Given the description of an element on the screen output the (x, y) to click on. 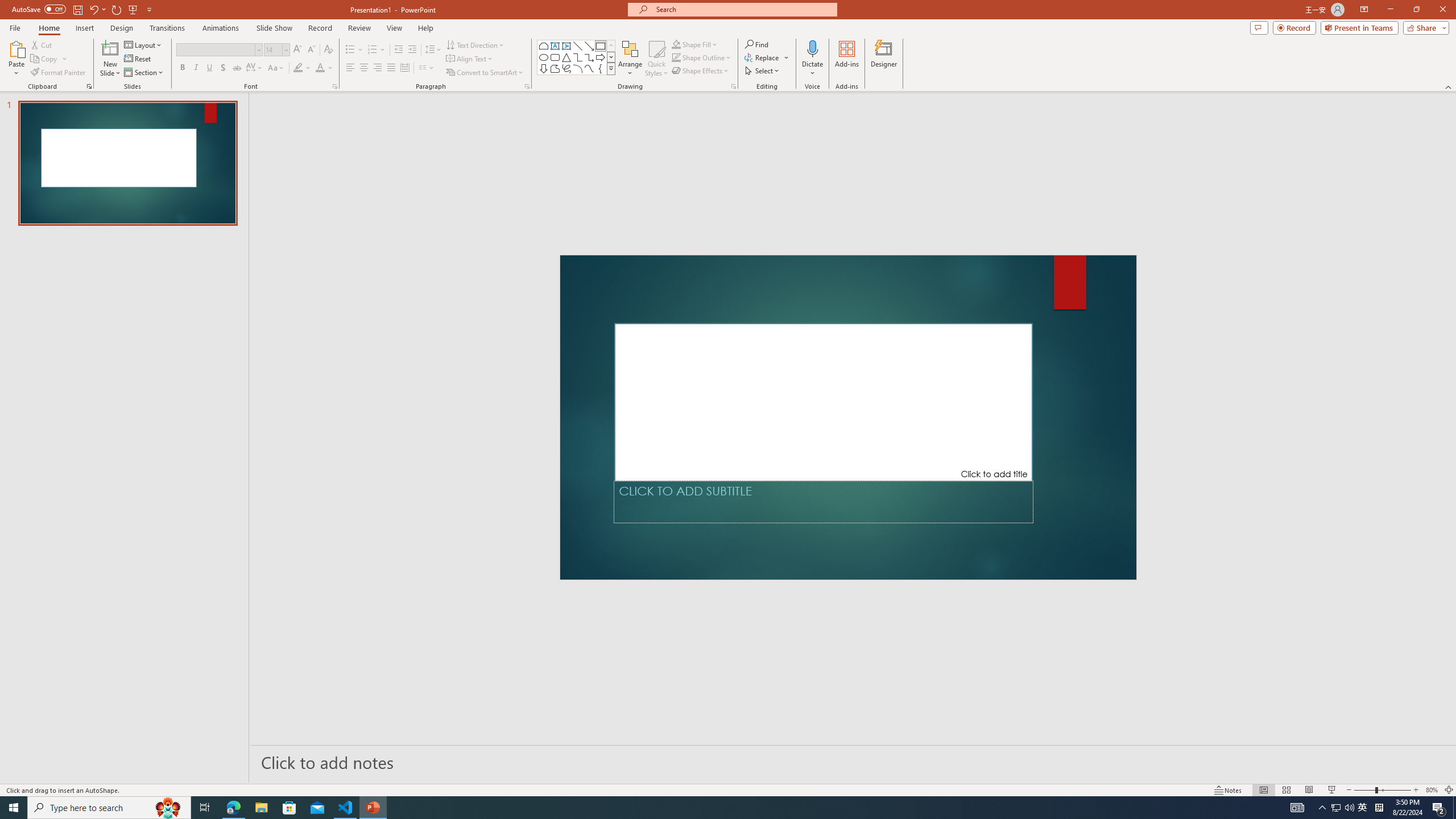
Shape Effects (700, 69)
